Given the description of an element on the screen output the (x, y) to click on. 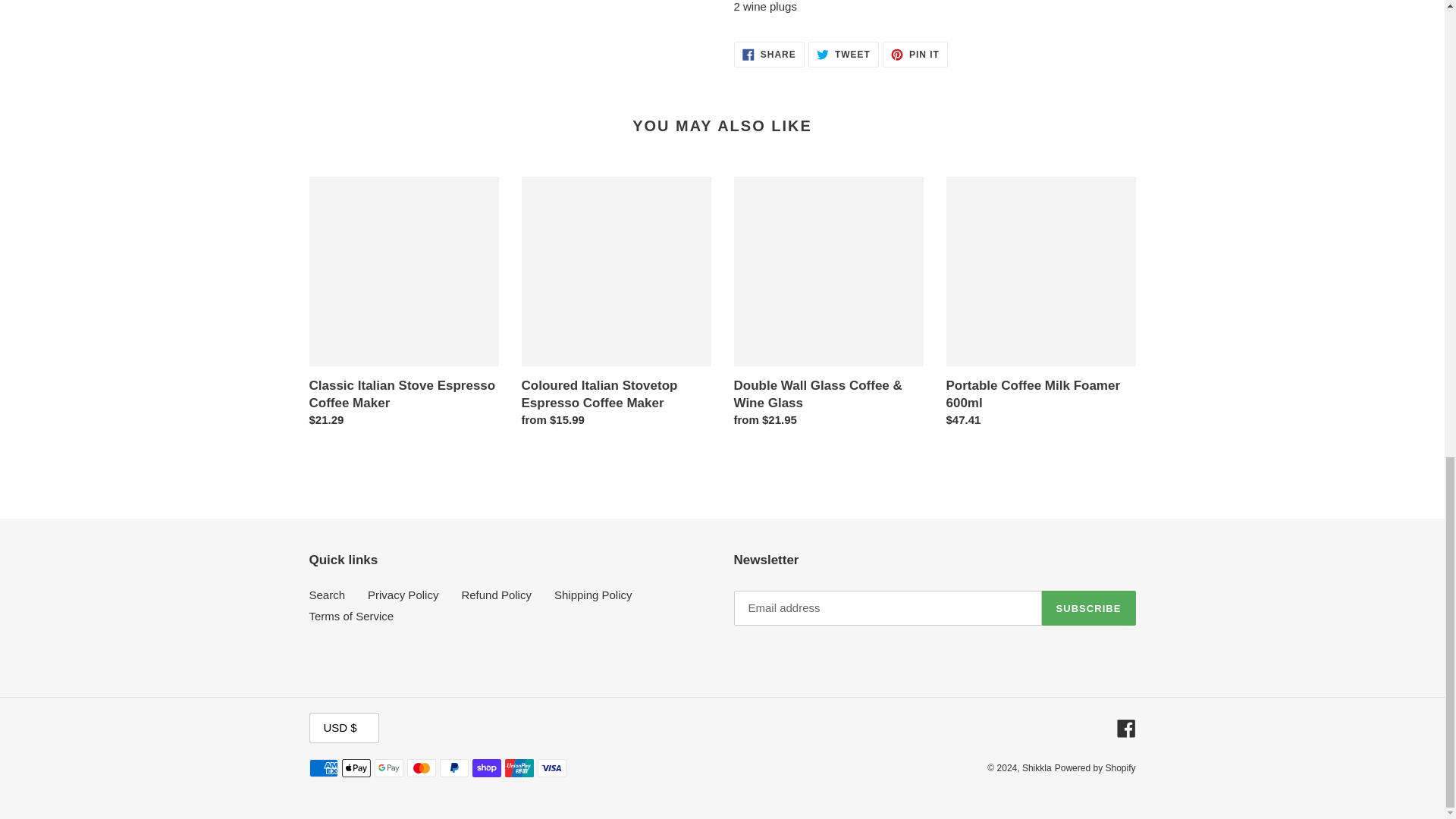
Shipping Policy (592, 594)
Refund Policy (496, 594)
Terms of Service (351, 615)
Privacy Policy (403, 594)
Search (327, 594)
SUBSCRIBE (1088, 607)
